Given the description of an element on the screen output the (x, y) to click on. 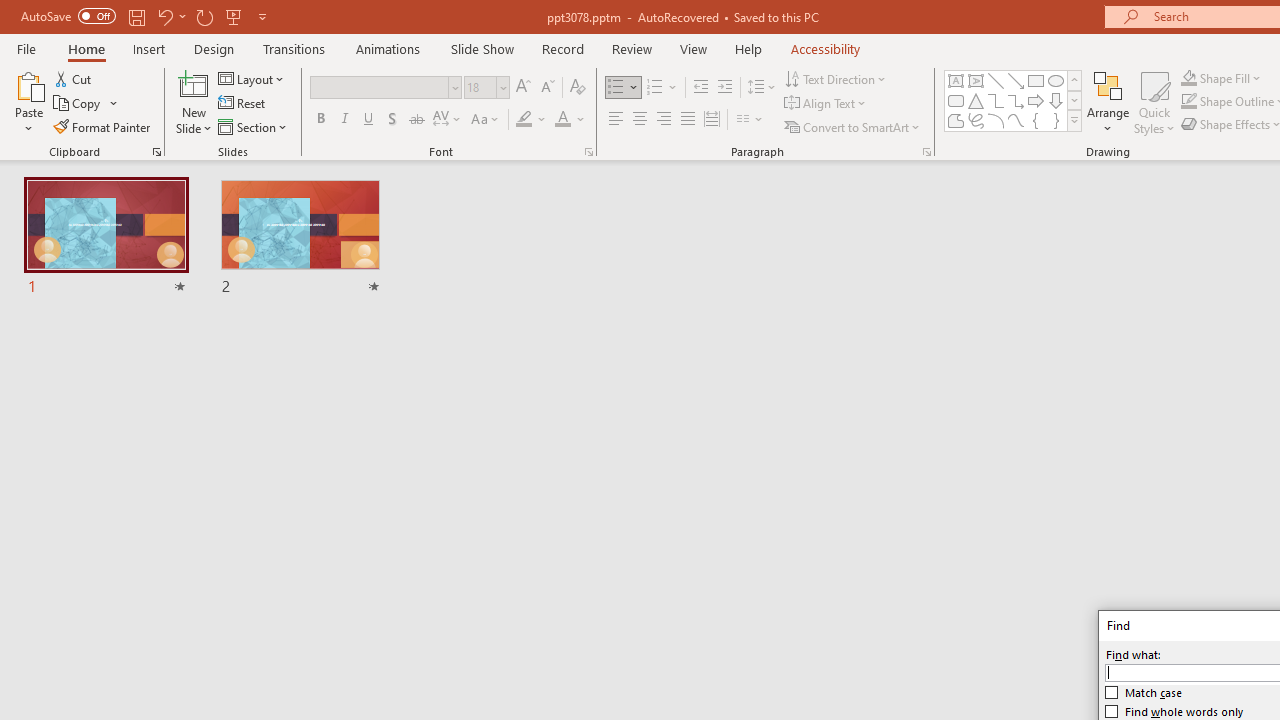
Find whole words only (1174, 712)
